Given the description of an element on the screen output the (x, y) to click on. 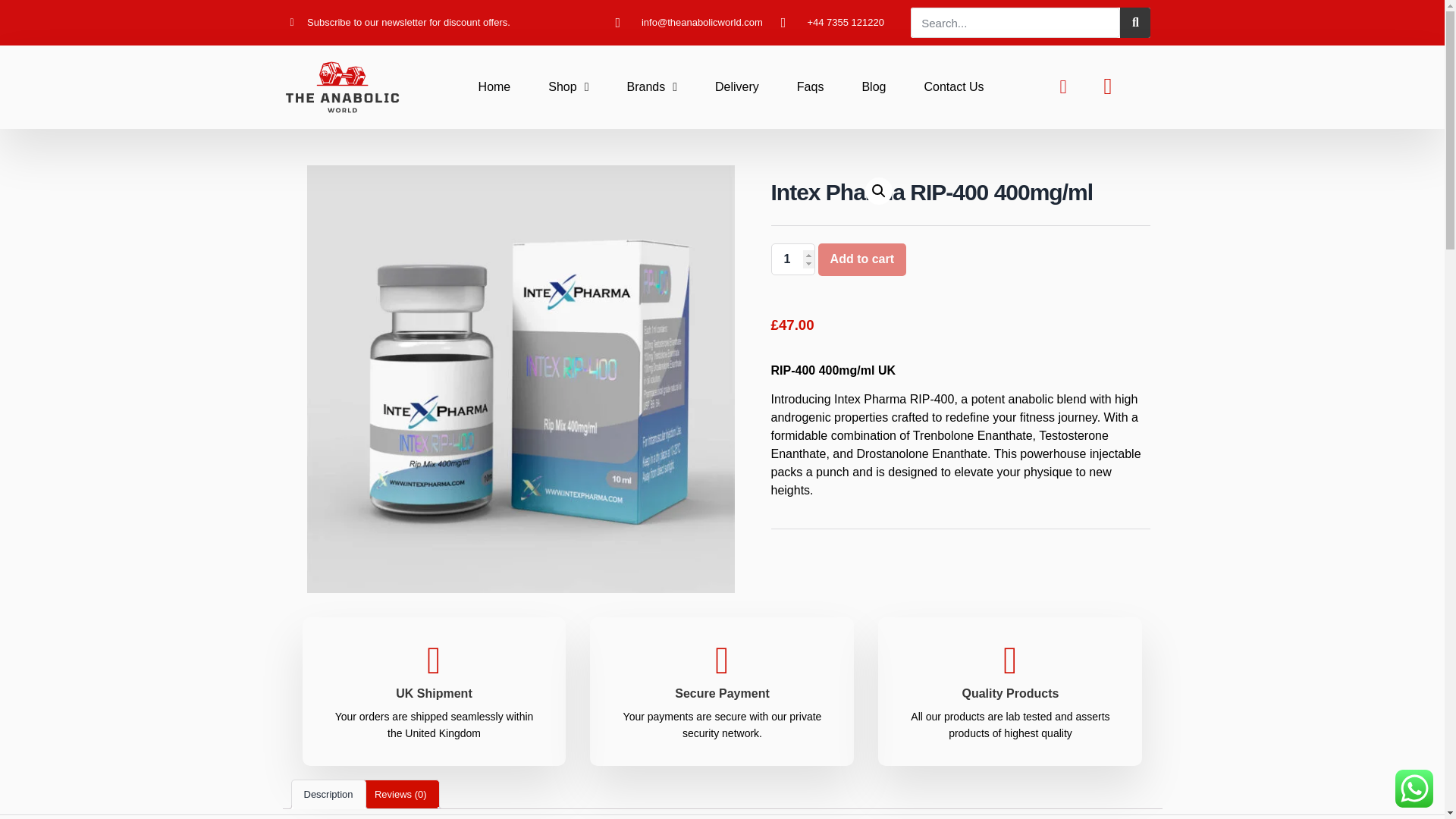
Qty (791, 259)
Home (494, 86)
Faqs (810, 86)
Shop (568, 86)
Contact Us (953, 86)
Delivery (736, 86)
1 (791, 259)
Brands (651, 86)
Blog (873, 86)
